Given the description of an element on the screen output the (x, y) to click on. 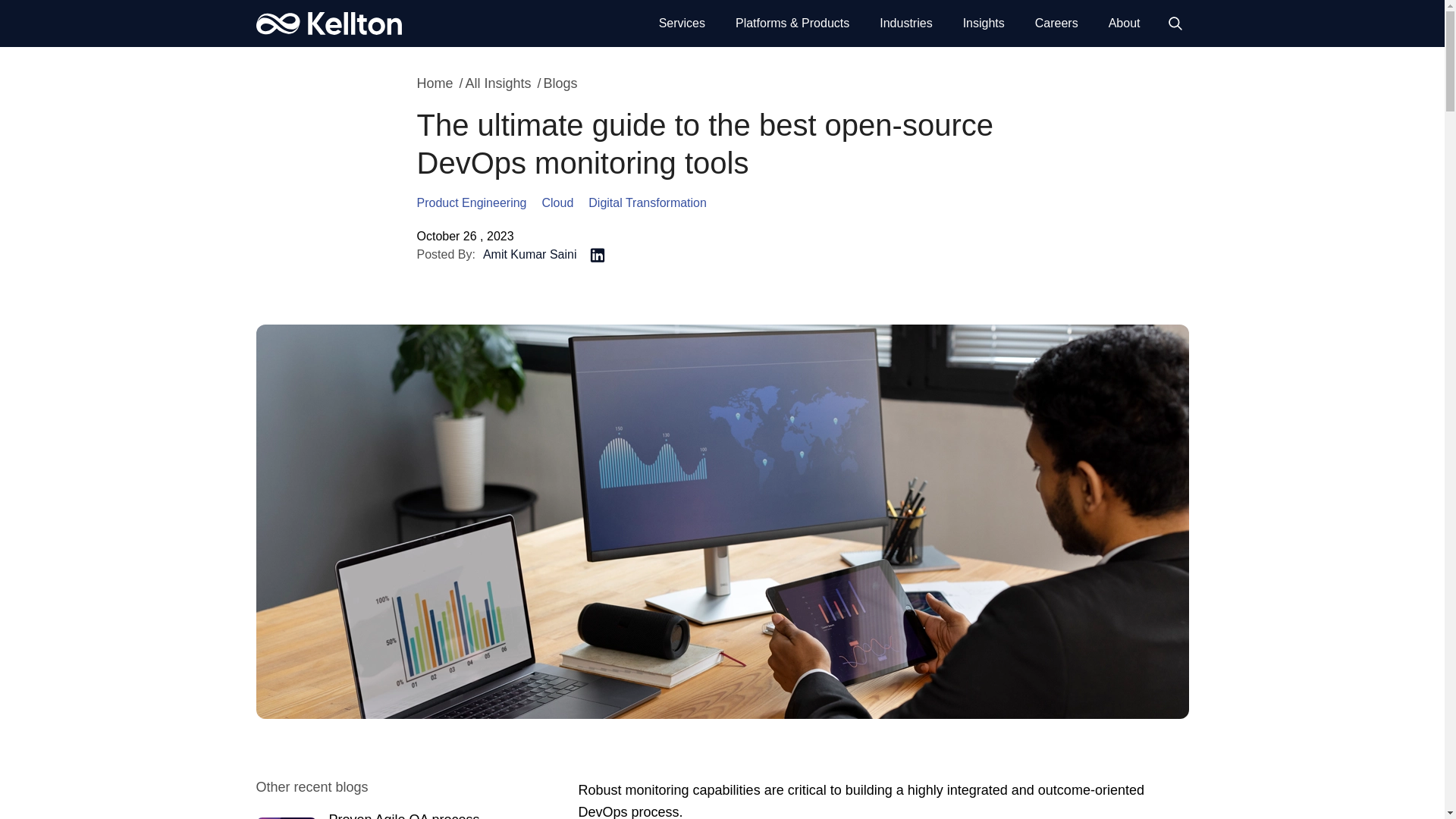
Services (681, 23)
Home (328, 23)
